Given the description of an element on the screen output the (x, y) to click on. 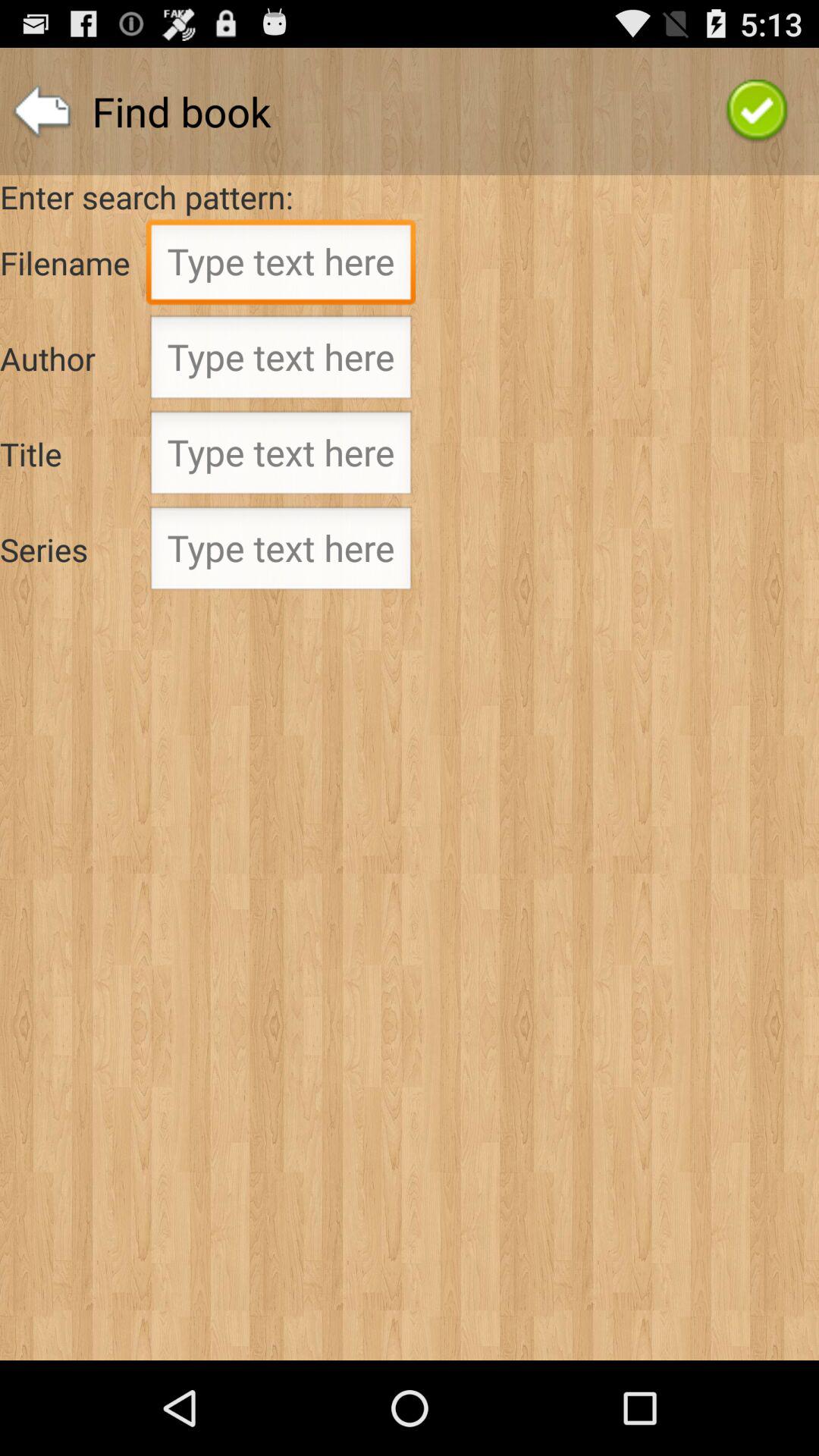
selct text box for series (280, 552)
